Given the description of an element on the screen output the (x, y) to click on. 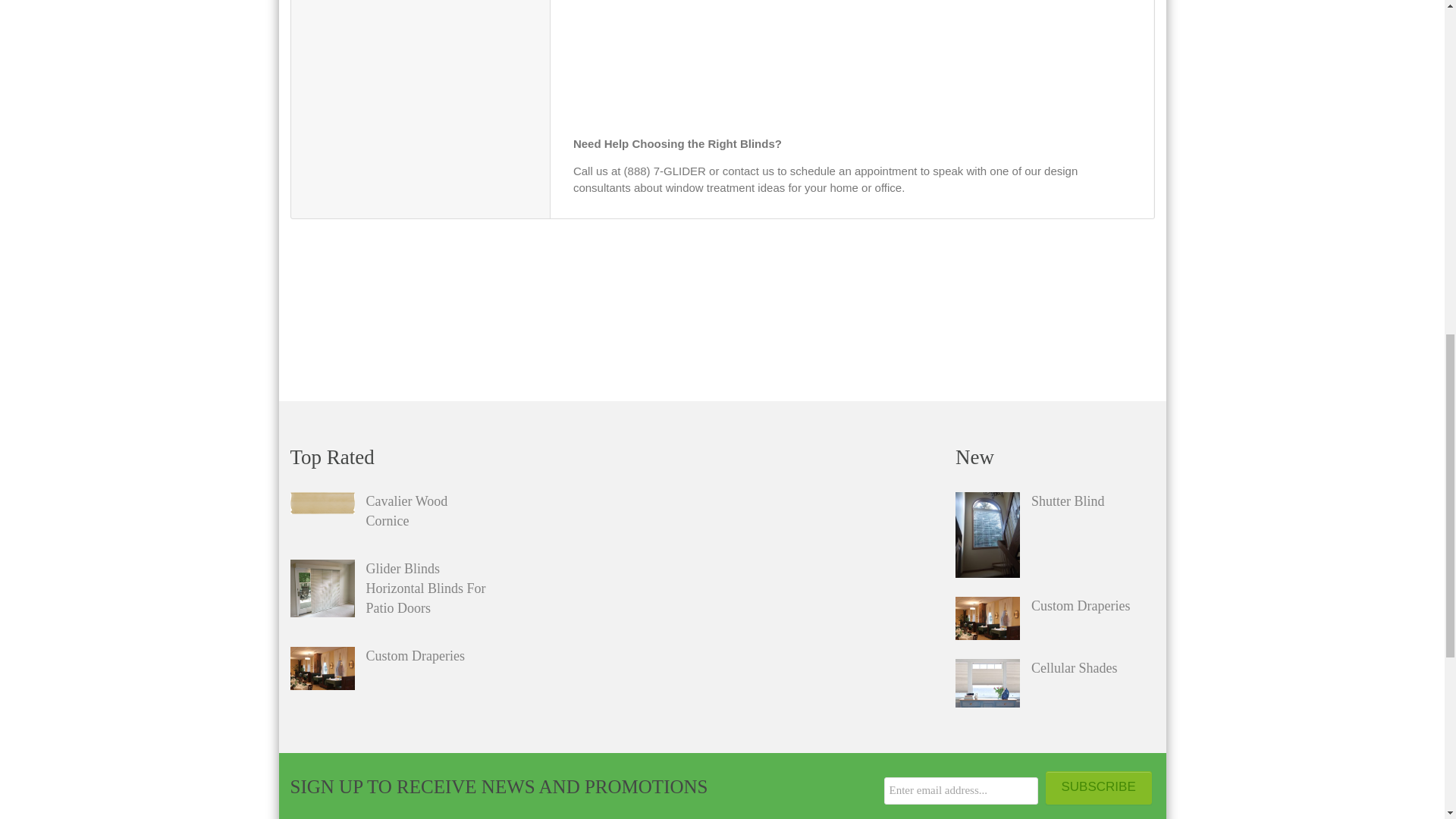
Subscribe (1098, 787)
Glider Blinds Horizontal Blinds For Patio Doors (321, 588)
Cavalier Wood Cornice (321, 503)
Custom Draperies (321, 668)
Enter email address... (960, 790)
Glider Blinds Horizontal Blinds For Patio Doors (427, 588)
Cavalier Wood Cornice (427, 511)
